Given the description of an element on the screen output the (x, y) to click on. 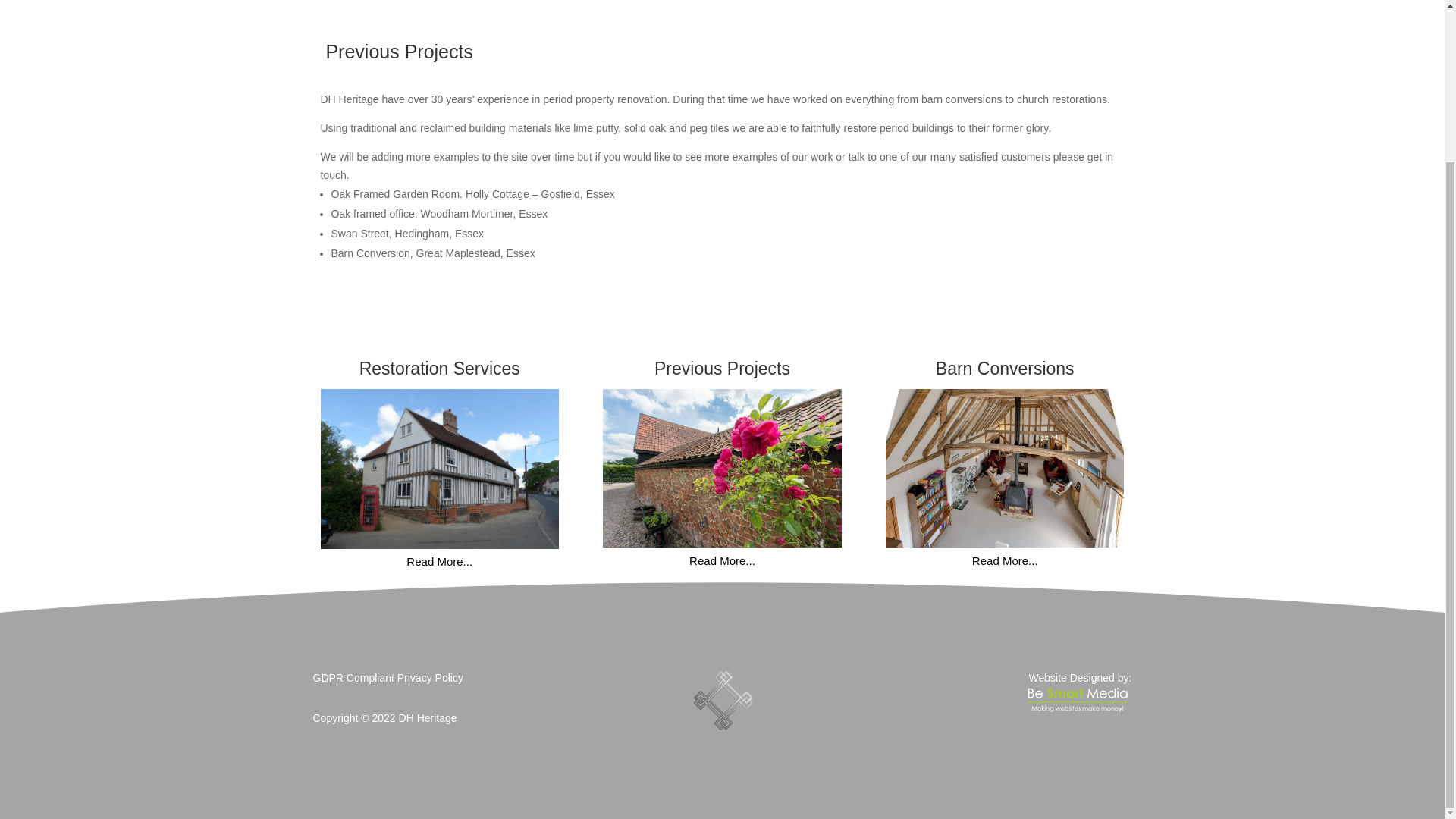
favicon-0 (722, 700)
Read More... (438, 561)
barn-conversions (1004, 468)
previous-projects (721, 468)
Read More... (1004, 560)
GDPR Compliant Privacy Policy (388, 677)
Read More... (722, 560)
